Given the description of an element on the screen output the (x, y) to click on. 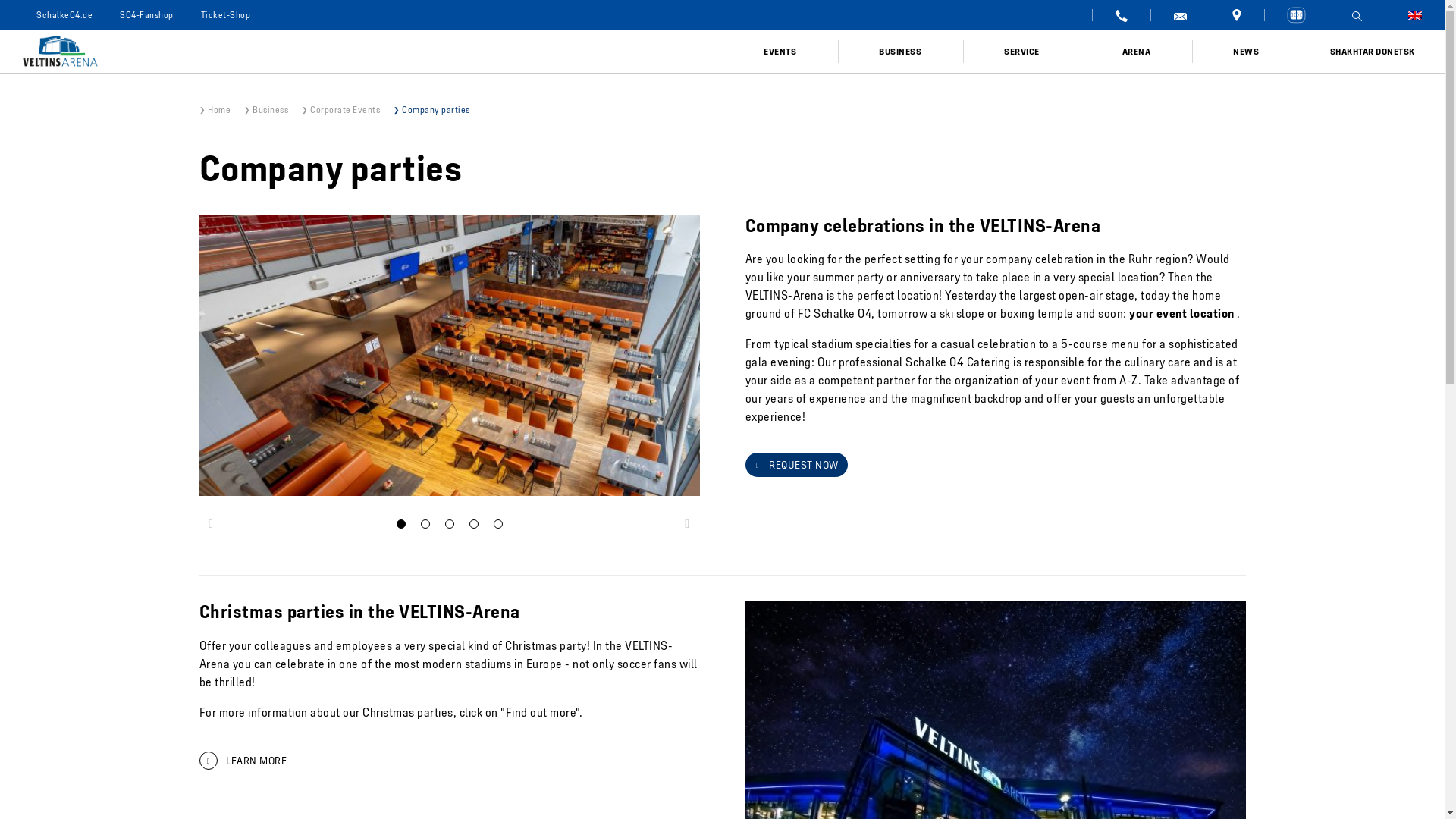
Ticket-Shop (224, 15)
Schalke04.de (64, 15)
S04-Fanshop (146, 15)
Arena (1295, 15)
VELTINS Arena (361, 51)
